Given the description of an element on the screen output the (x, y) to click on. 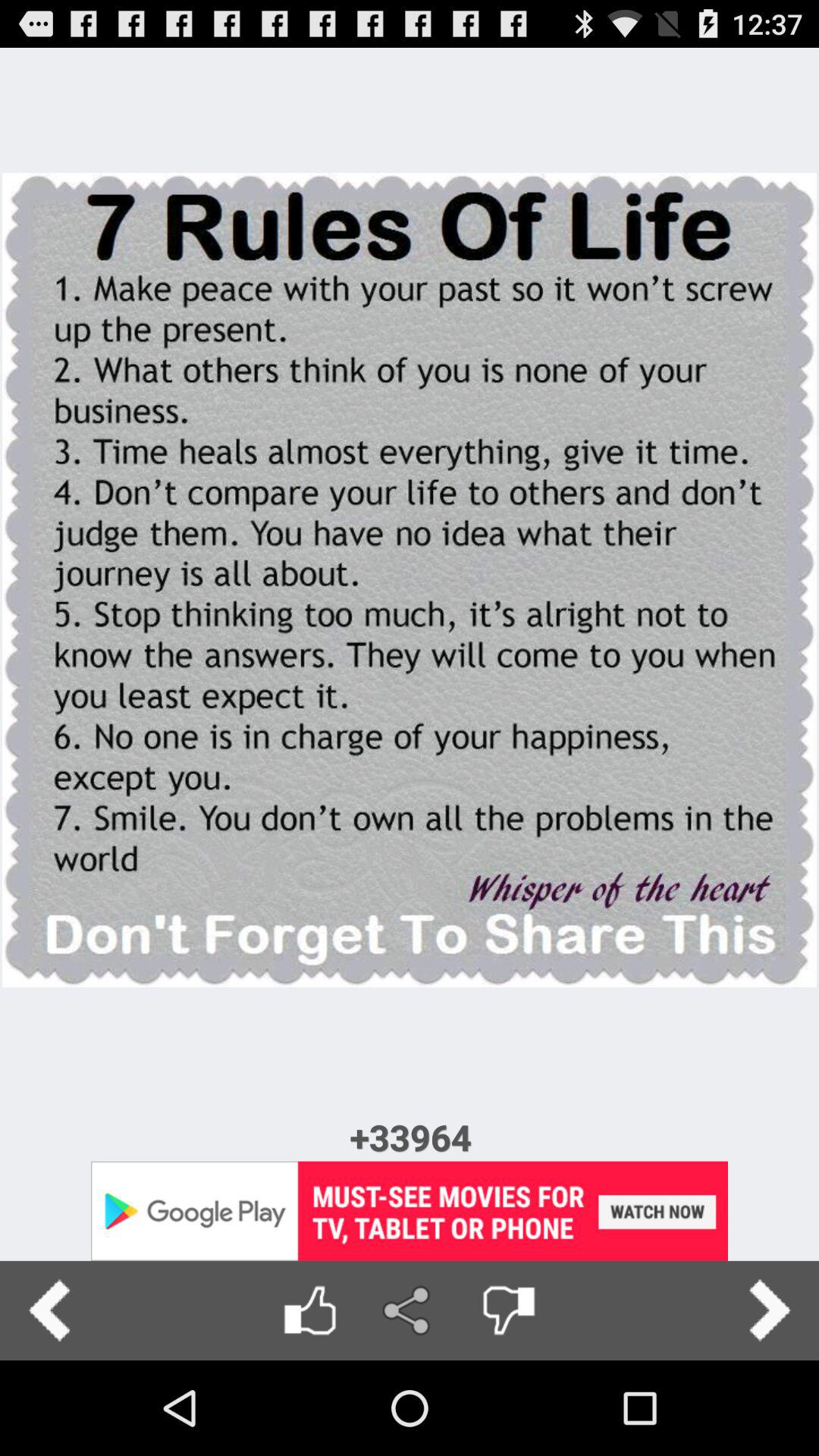
go to like (309, 1310)
